Given the description of an element on the screen output the (x, y) to click on. 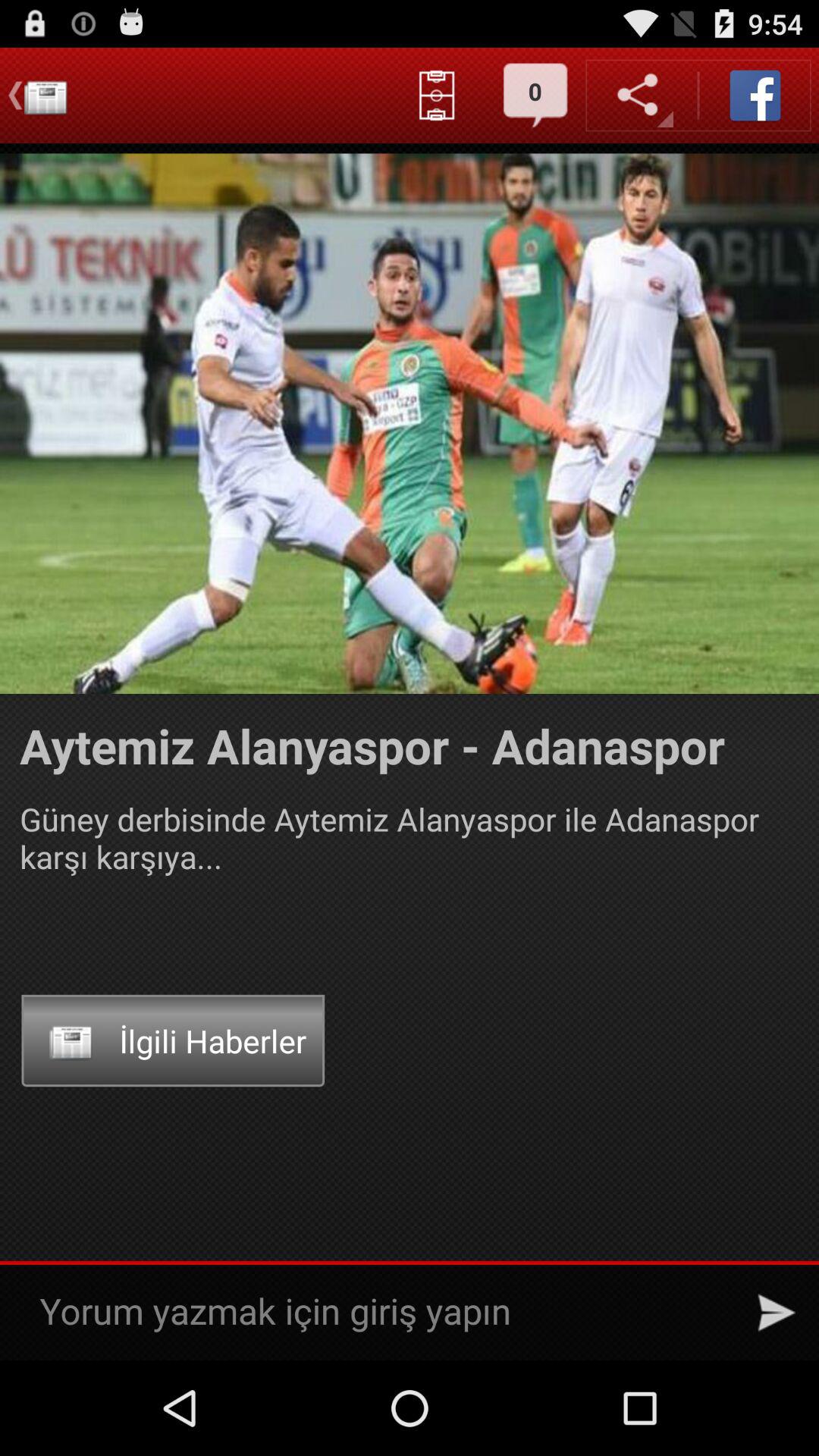
press the icon at the bottom right corner (776, 1312)
